Given the description of an element on the screen output the (x, y) to click on. 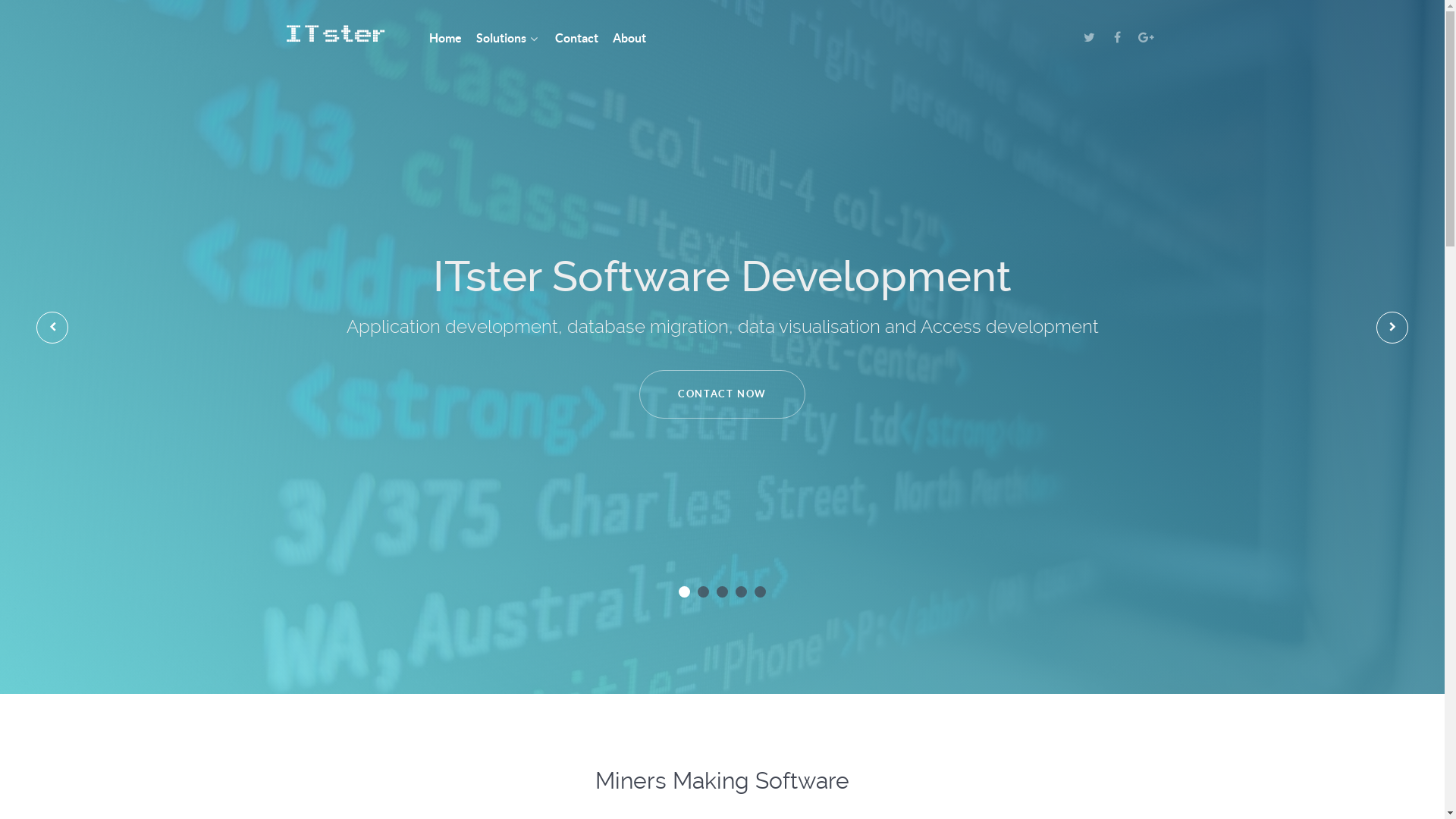
Contact Element type: text (576, 39)
Solutions Element type: text (508, 39)
CONTACT NOW Element type: text (722, 394)
Home Element type: text (445, 39)
About Element type: text (629, 39)
